Given the description of an element on the screen output the (x, y) to click on. 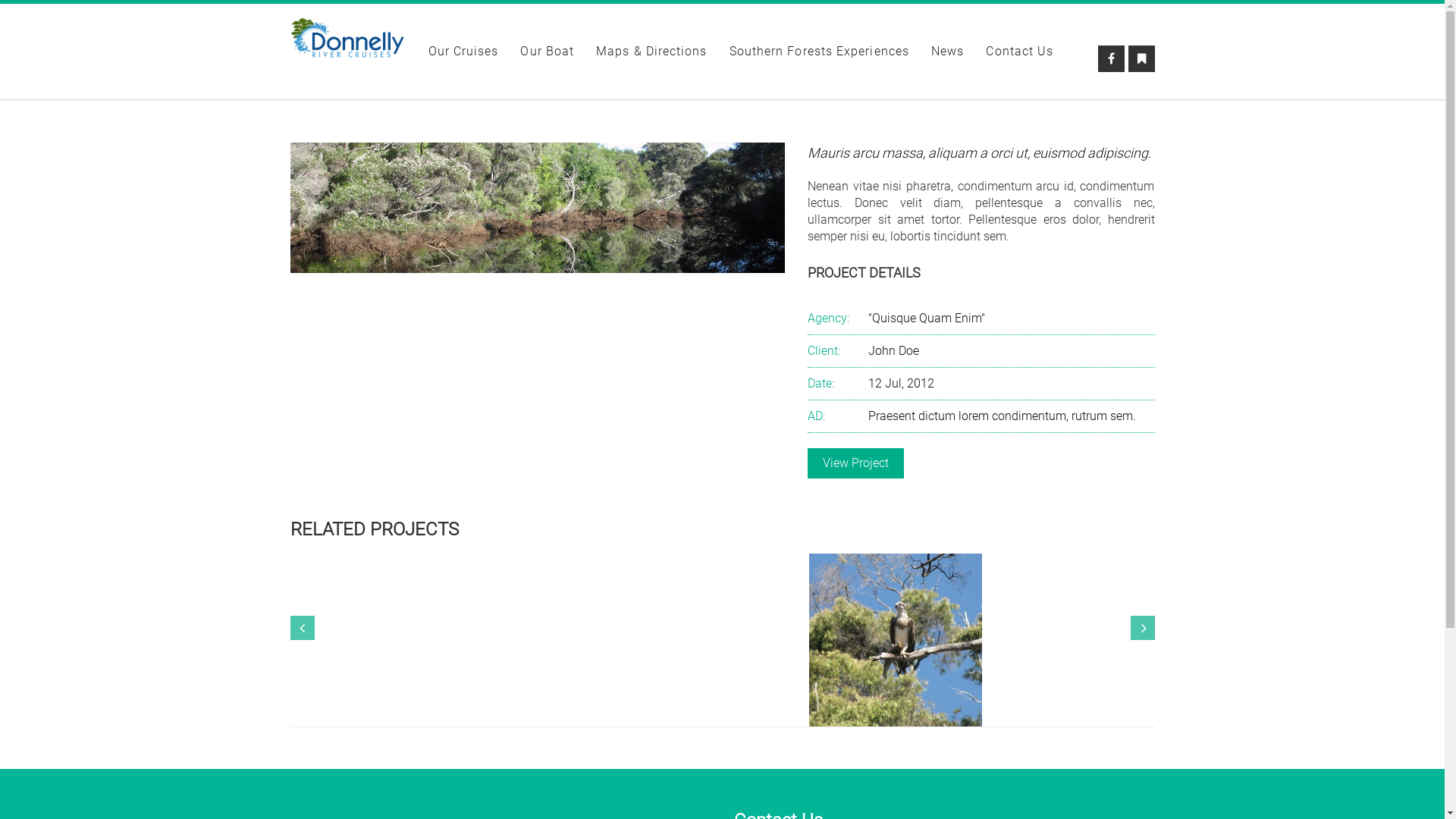
News Element type: text (947, 51)
Our Cruises Element type: text (462, 51)
View Project Element type: text (855, 463)
Our Boat Element type: text (547, 51)
Maps & Directions Element type: text (651, 51)
Southern Forests Experiences Element type: text (819, 51)
Contact Us Element type: text (1019, 51)
